Given the description of an element on the screen output the (x, y) to click on. 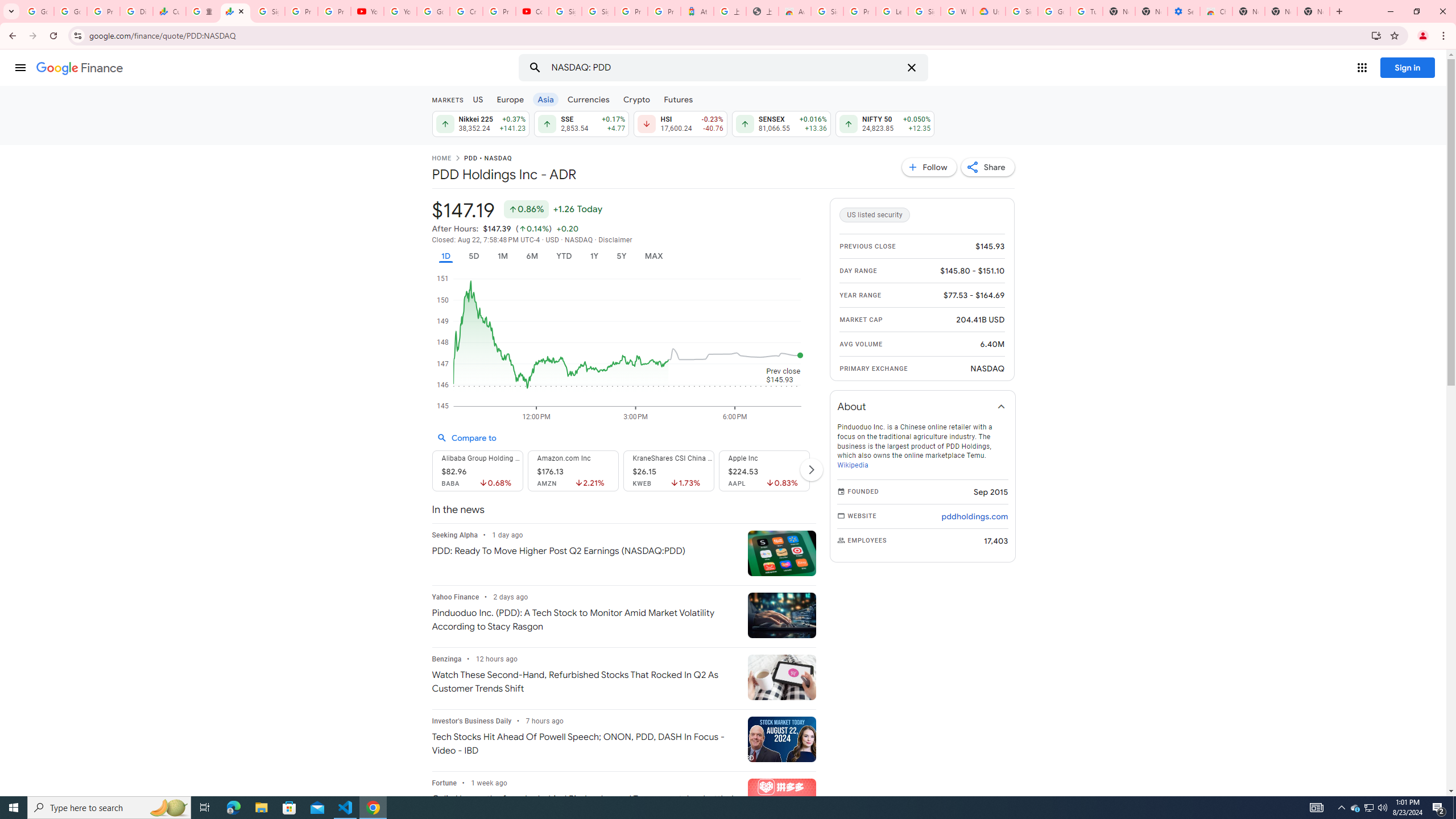
New Tab (1313, 11)
Futures (678, 99)
US (477, 99)
Europe (510, 99)
Google Workspace Admin Community (37, 11)
Sign in - Google Accounts (924, 11)
Sign in - Google Accounts (827, 11)
Chrome Web Store - Accessibility extensions (1216, 11)
